Given the description of an element on the screen output the (x, y) to click on. 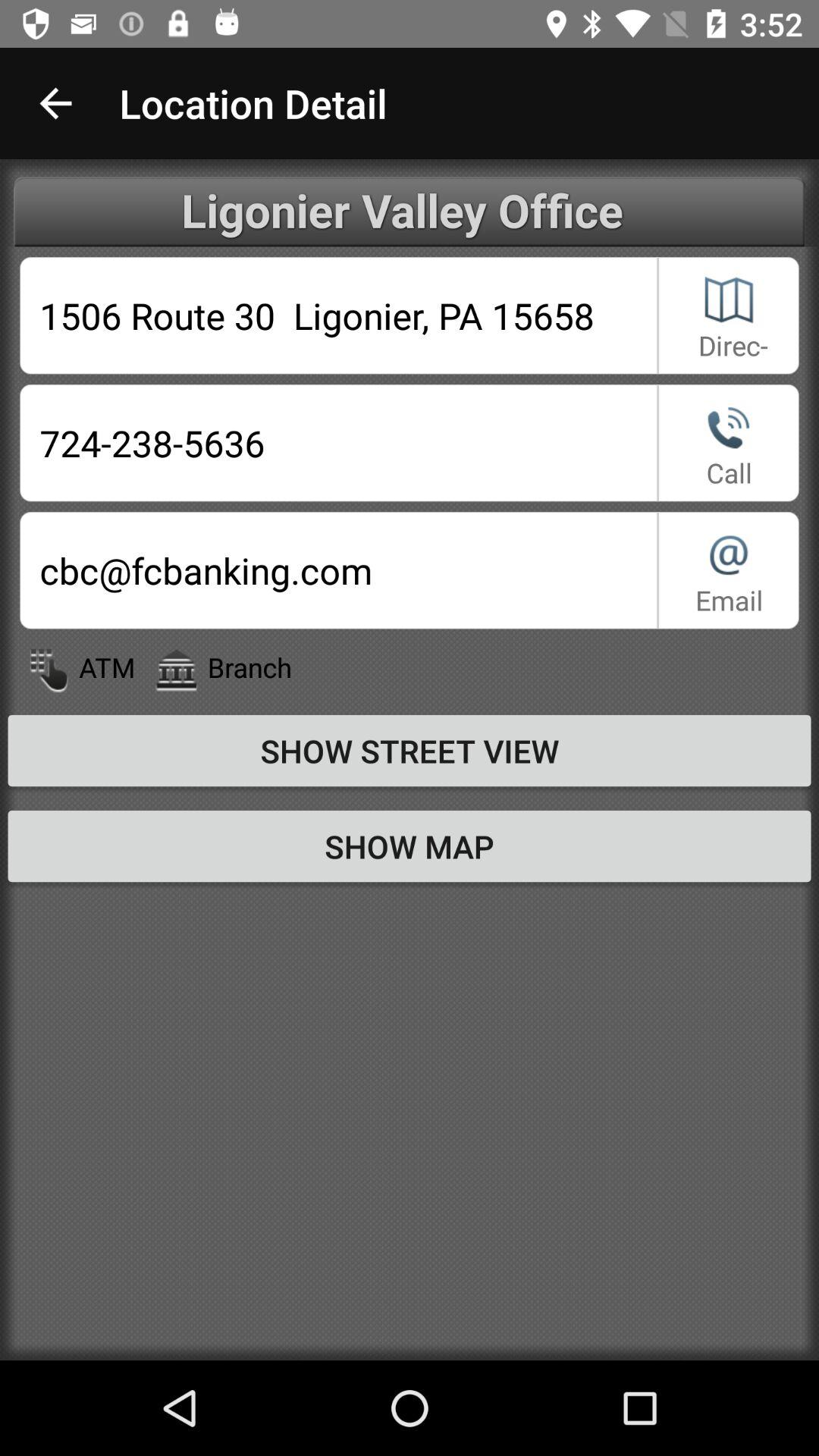
scroll until the show street view icon (409, 750)
